Given the description of an element on the screen output the (x, y) to click on. 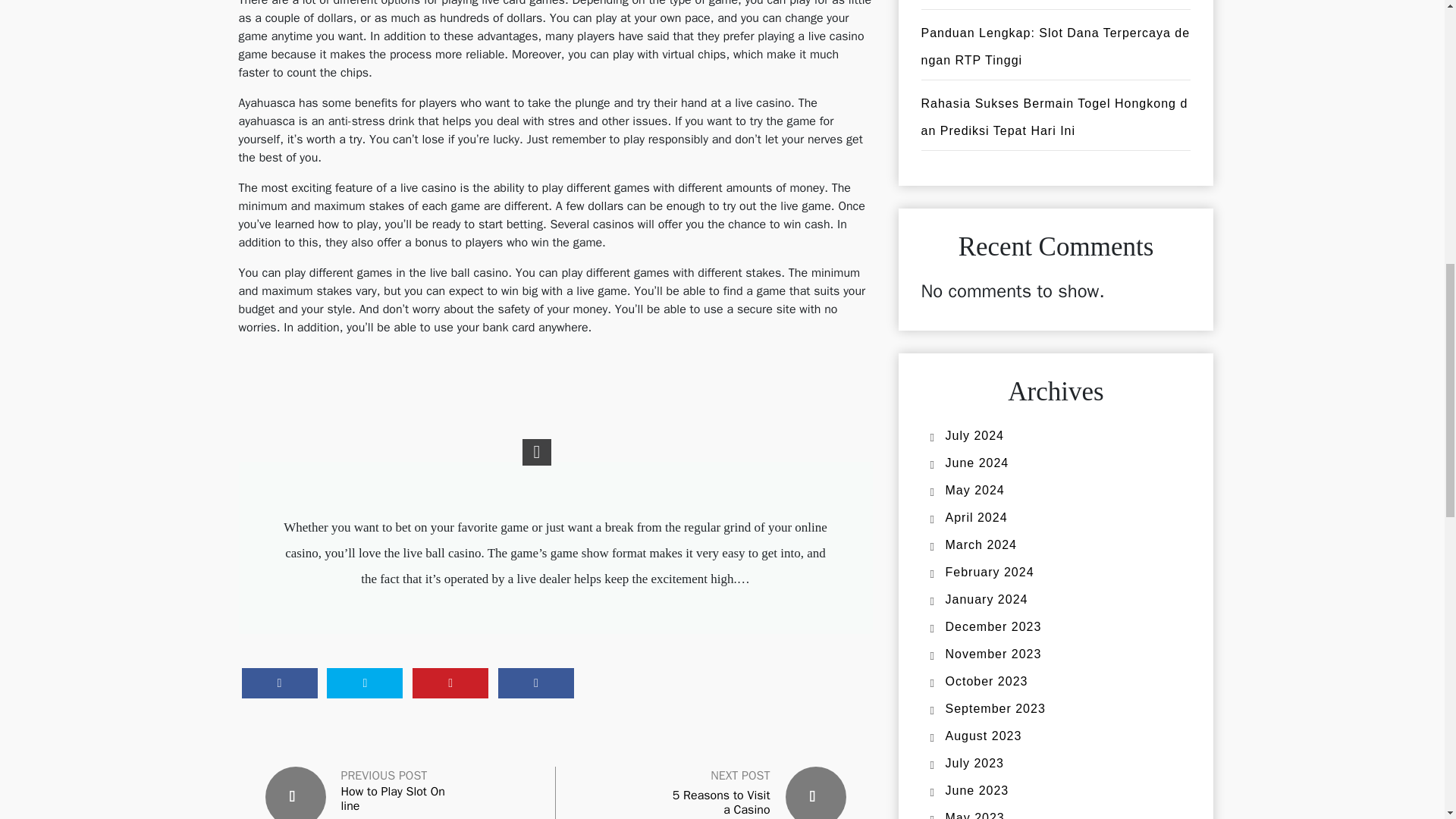
December 2023 (992, 626)
January 2024 (985, 599)
June 2024 (976, 462)
How to Play Slot Online (393, 799)
Panduan Lengkap: Slot Dana Terpercaya dengan RTP Tinggi (1054, 46)
NEXT POST (740, 775)
July 2024 (974, 435)
PREVIOUS POST (384, 775)
November 2023 (992, 653)
February 2024 (988, 571)
5 Reasons to Visit a Casino (721, 802)
May 2024 (974, 490)
April 2024 (975, 517)
March 2024 (980, 544)
